Given the description of an element on the screen output the (x, y) to click on. 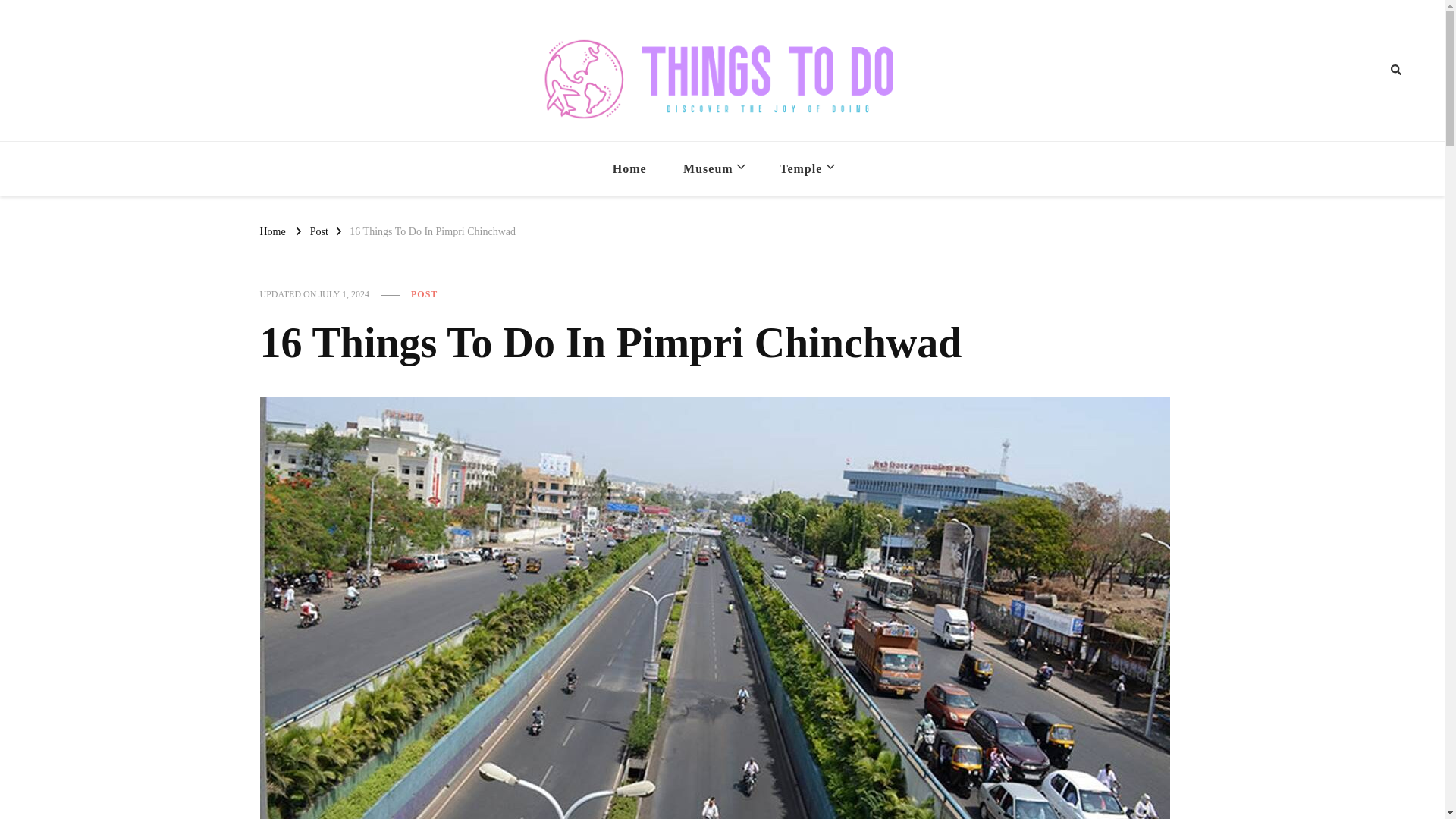
ThingsToDo (781, 144)
Home (272, 230)
Search (1368, 69)
Post (319, 230)
Museum (713, 168)
16 Things To Do In Pimpri Chinchwad (432, 230)
Temple (805, 168)
Home (629, 168)
